Given the description of an element on the screen output the (x, y) to click on. 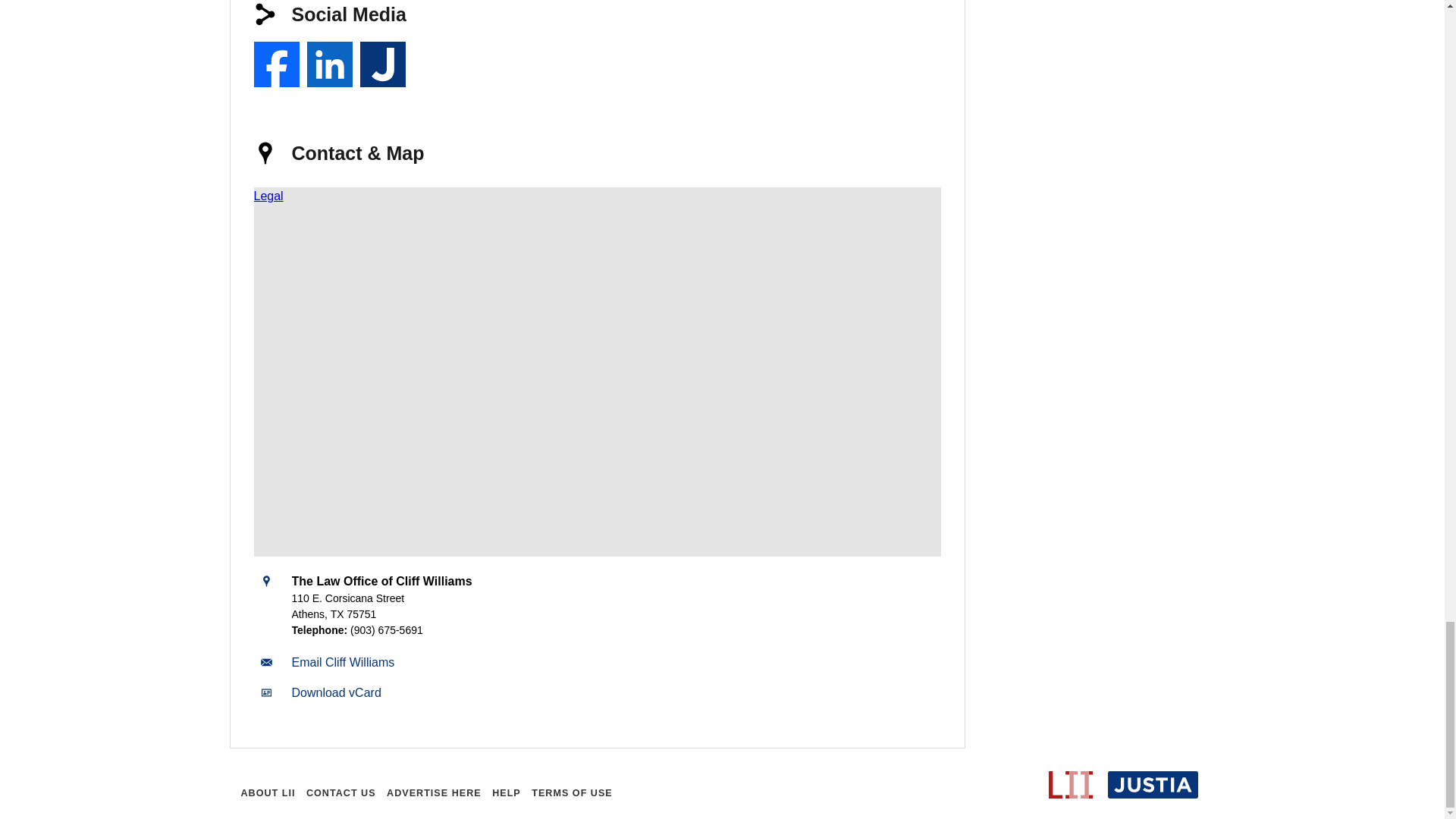
 Justia Profile (381, 63)
Cliff Williams on LinkedIn (328, 63)
Justia Profile (381, 63)
Email Cliff Williams (342, 662)
Facebook (275, 63)
Cliff Williams on Facebook (275, 63)
Download vCard (335, 692)
LinkedIn (328, 63)
